Given the description of an element on the screen output the (x, y) to click on. 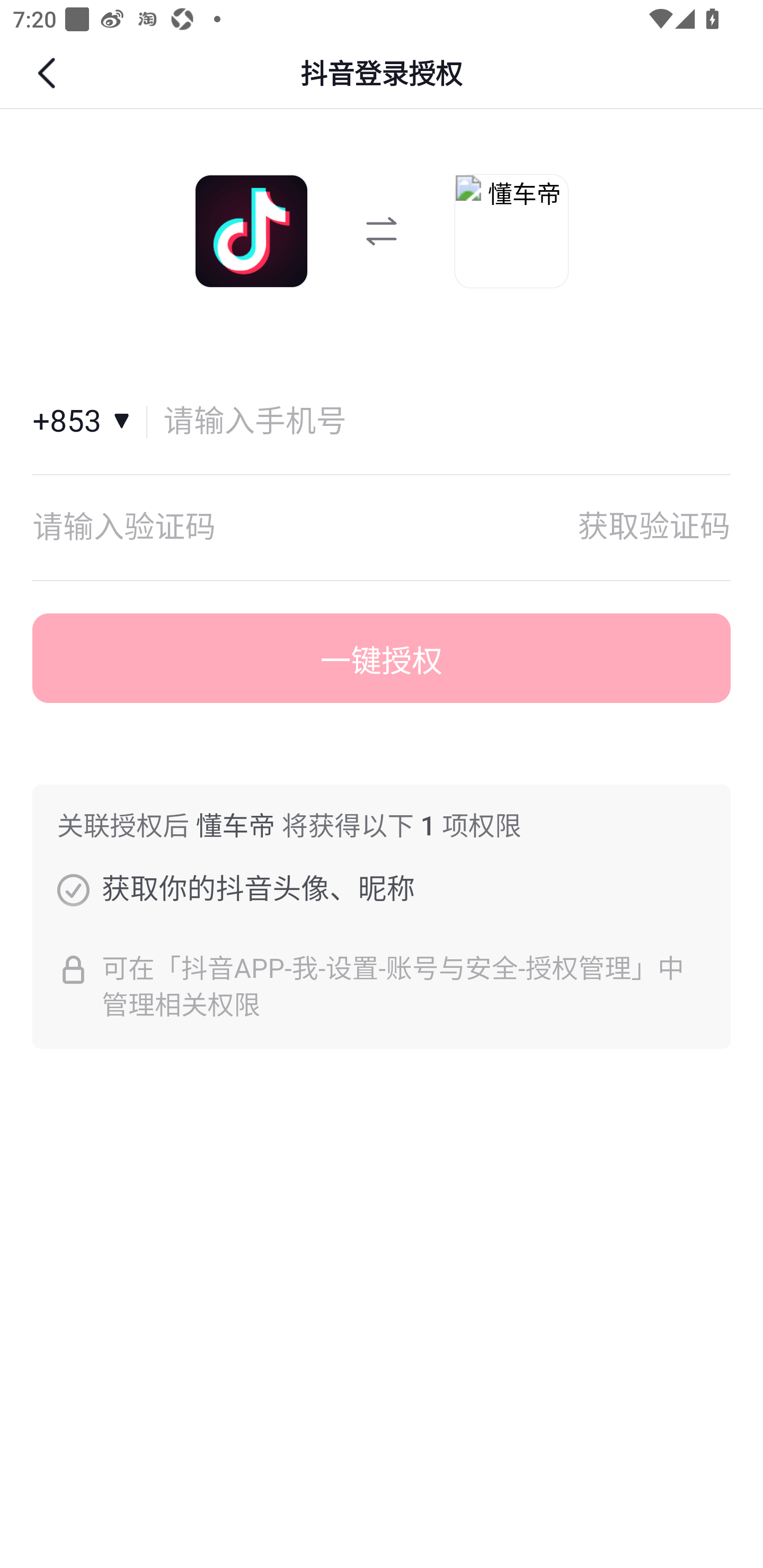
返回 (49, 72)
国家和地区+853 (90, 421)
获取验证码 (653, 526)
一键授权 (381, 658)
获取你的抖音头像、昵称 (72, 889)
